Given the description of an element on the screen output the (x, y) to click on. 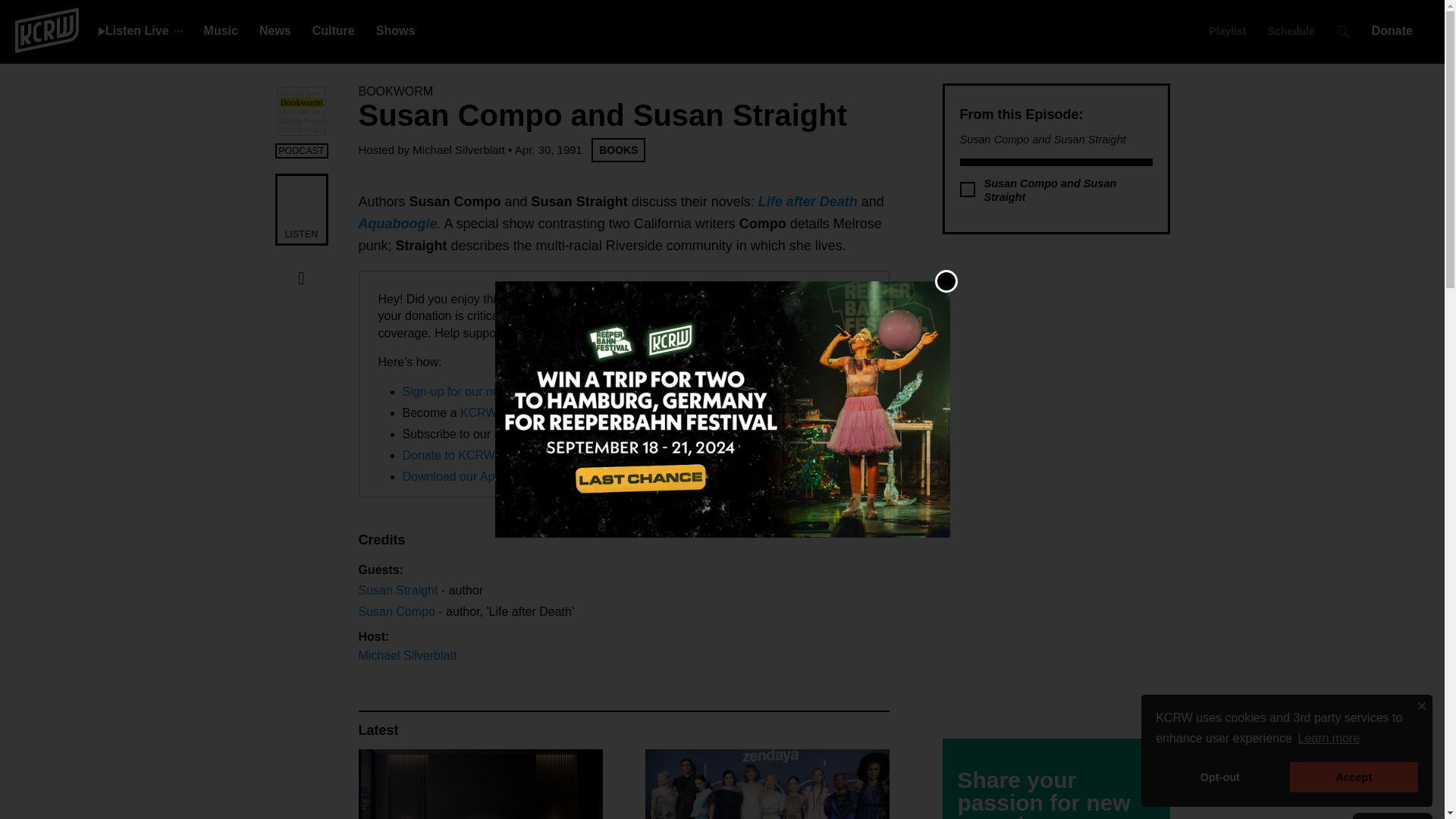
Get embed code (301, 340)
Culture (334, 30)
Opt-out (1220, 777)
Shows (394, 30)
Life after Death (807, 201)
News (275, 30)
BOOKWORM (395, 91)
Michael Silverblatt (458, 149)
Schedule (1291, 30)
Podcasts (518, 433)
Share on Facebook (301, 278)
BOOKS (618, 150)
Accept (1354, 777)
